Given the description of an element on the screen output the (x, y) to click on. 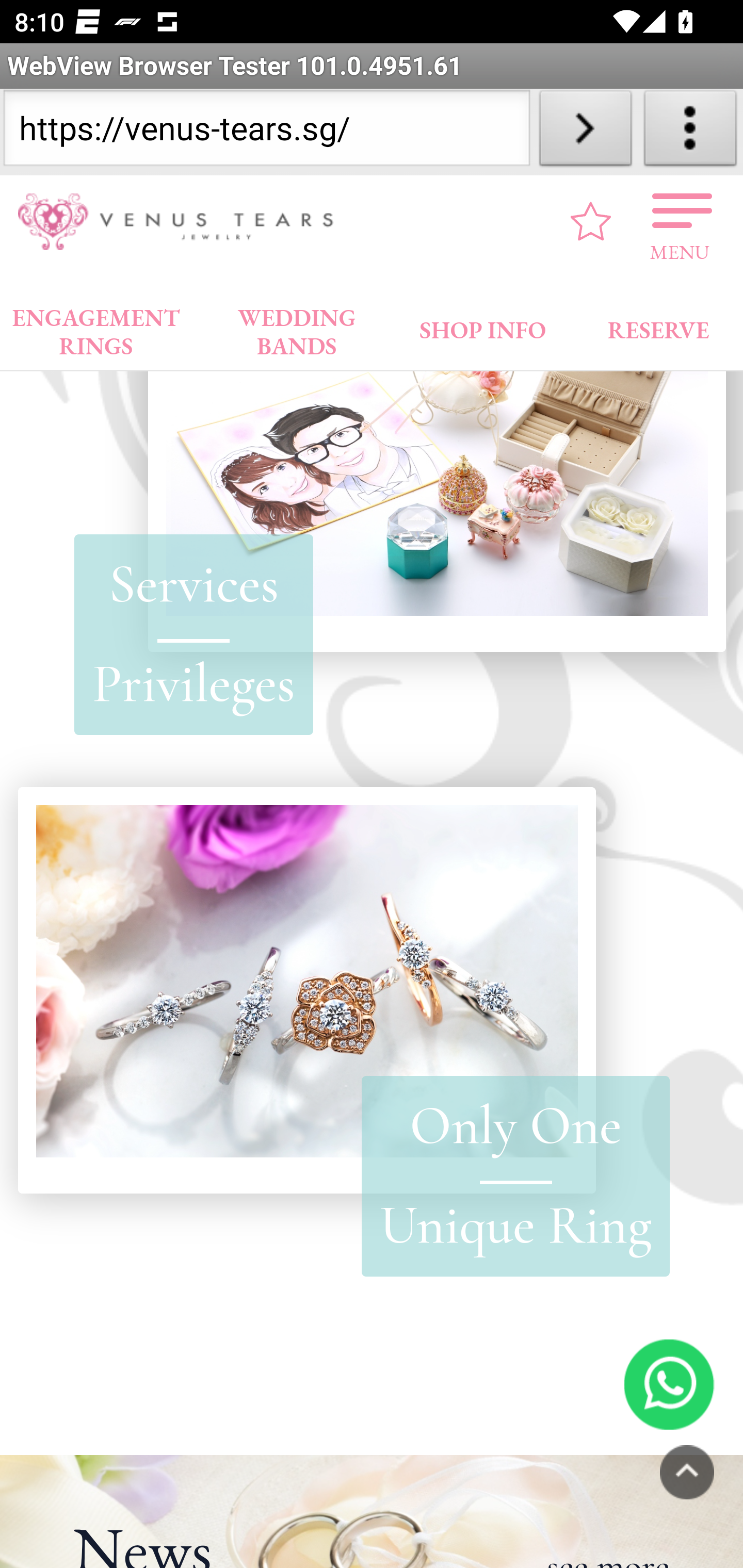
https://venus-tears.sg/ (266, 132)
Load URL (585, 132)
About WebView (690, 132)
favourite (591, 222)
MENU (680, 221)
VENUS TEARS (181, 221)
ENGAGEMENT RINGS ENGAGEMENT RINGS (96, 327)
WEDDING BANDS WEDDING BANDS (296, 327)
SHOP INFO (482, 325)
RESERVE (657, 325)
Services Privileges Services Privileges (193, 635)
One and Only Ideal Ring (306, 990)
Only One Unique Ring Only One Unique Ring (515, 1176)
6585184875 (668, 1385)
PAGETOP (686, 1472)
